Given the description of an element on the screen output the (x, y) to click on. 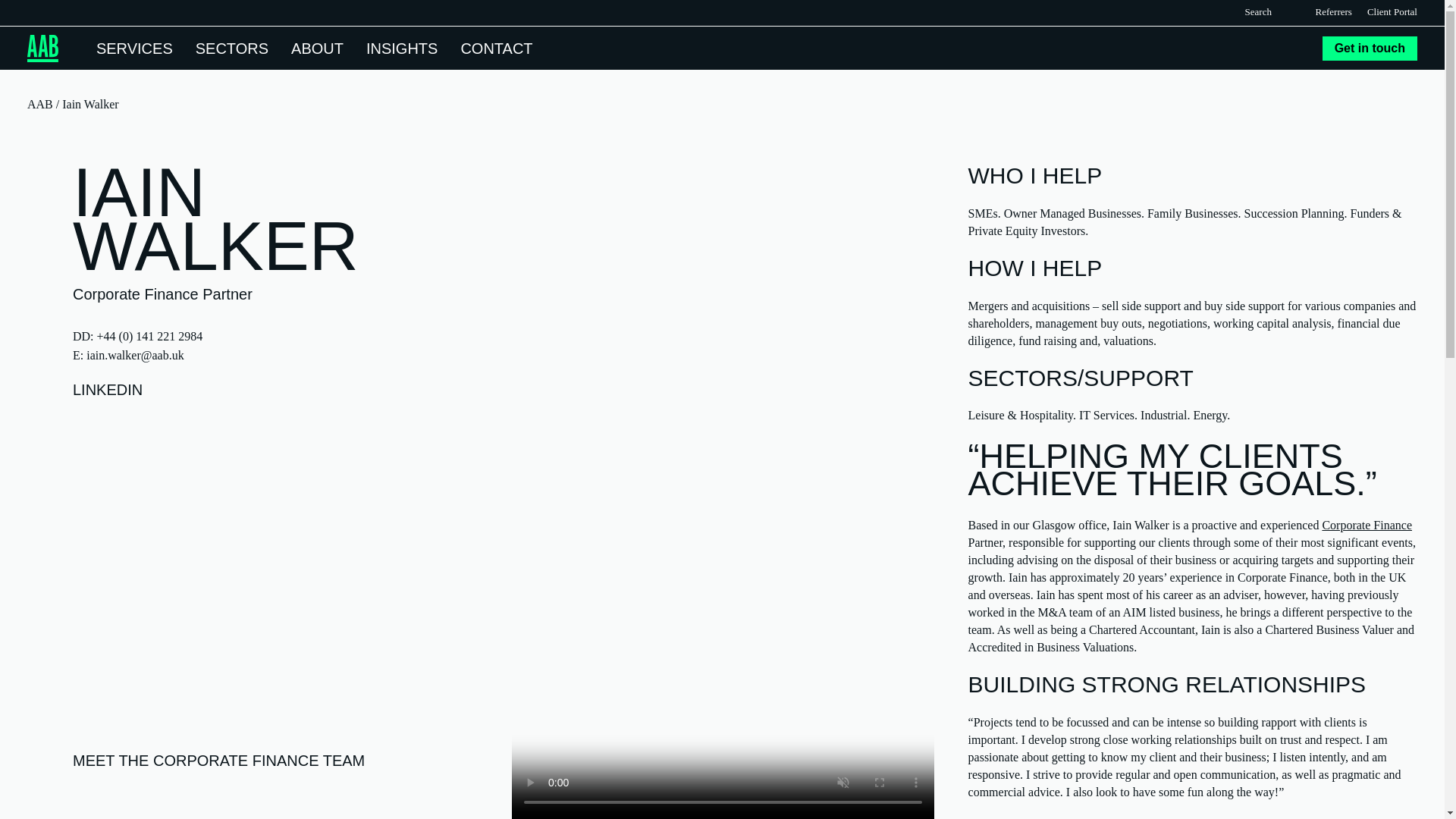
SECTORS (231, 47)
Referrers (1334, 12)
ABOUT (317, 47)
AAB Logo (42, 48)
Search (1283, 11)
SERVICES (134, 47)
Client Portal (1391, 12)
Search (1283, 11)
